Given the description of an element on the screen output the (x, y) to click on. 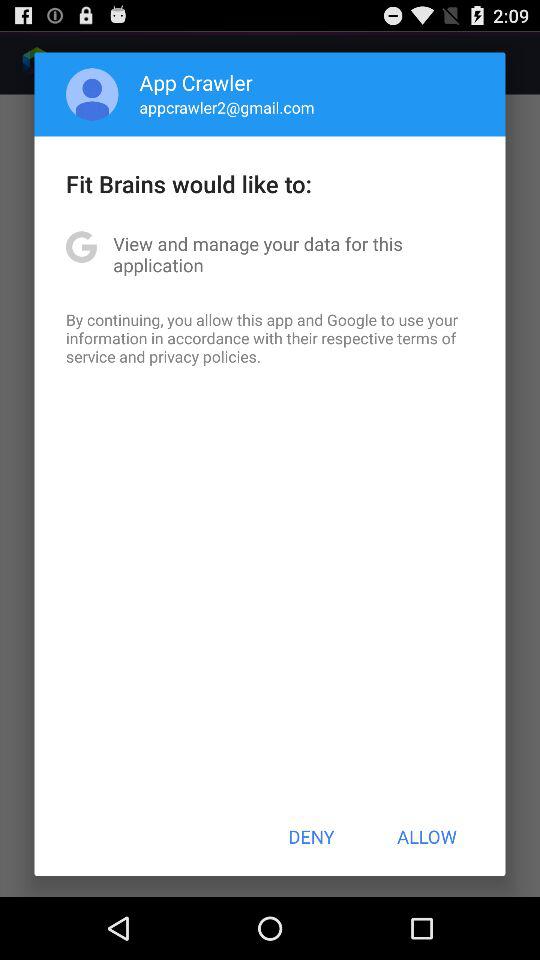
open item above by continuing you icon (269, 254)
